Given the description of an element on the screen output the (x, y) to click on. 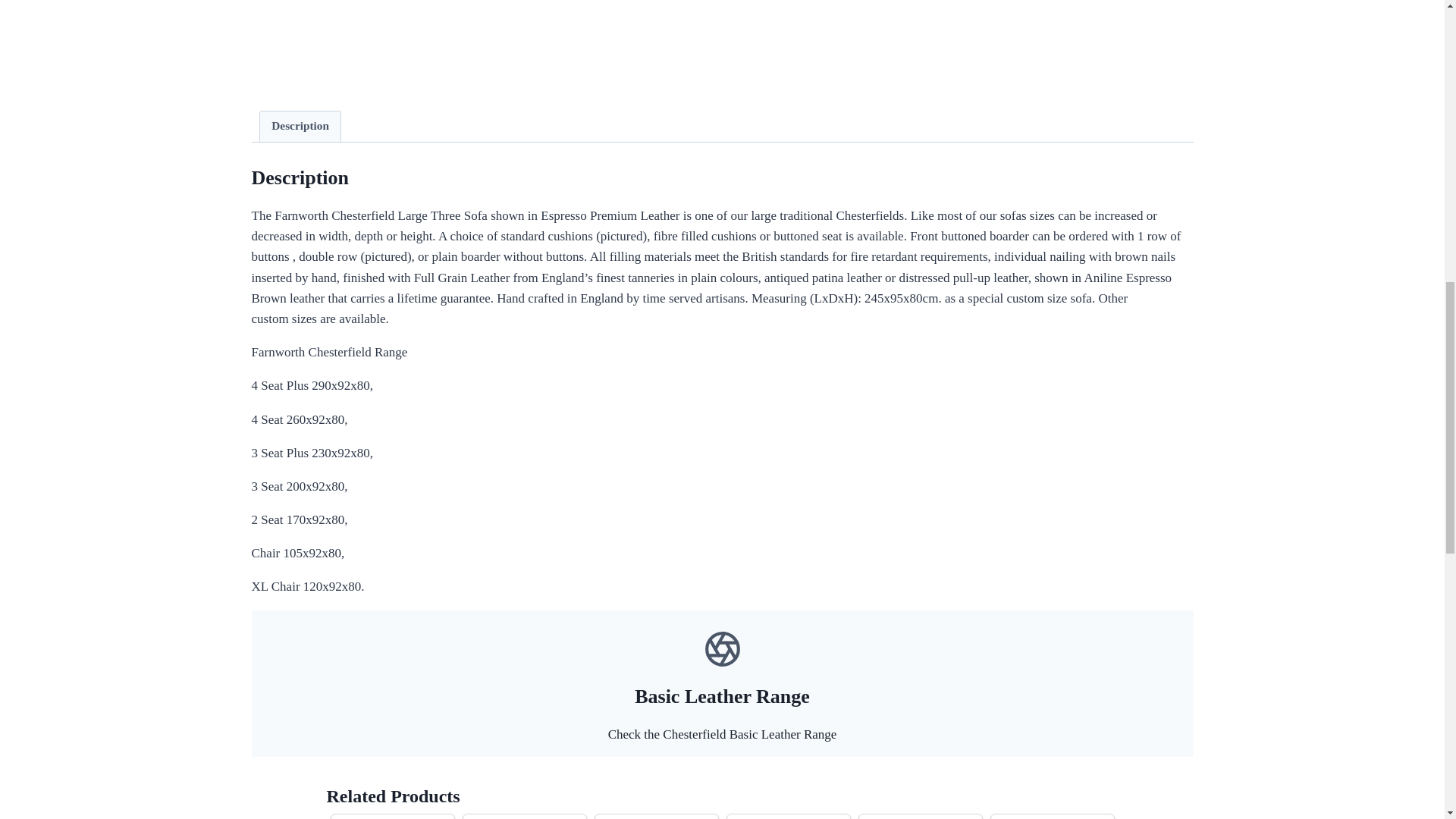
Description (300, 126)
